Given the description of an element on the screen output the (x, y) to click on. 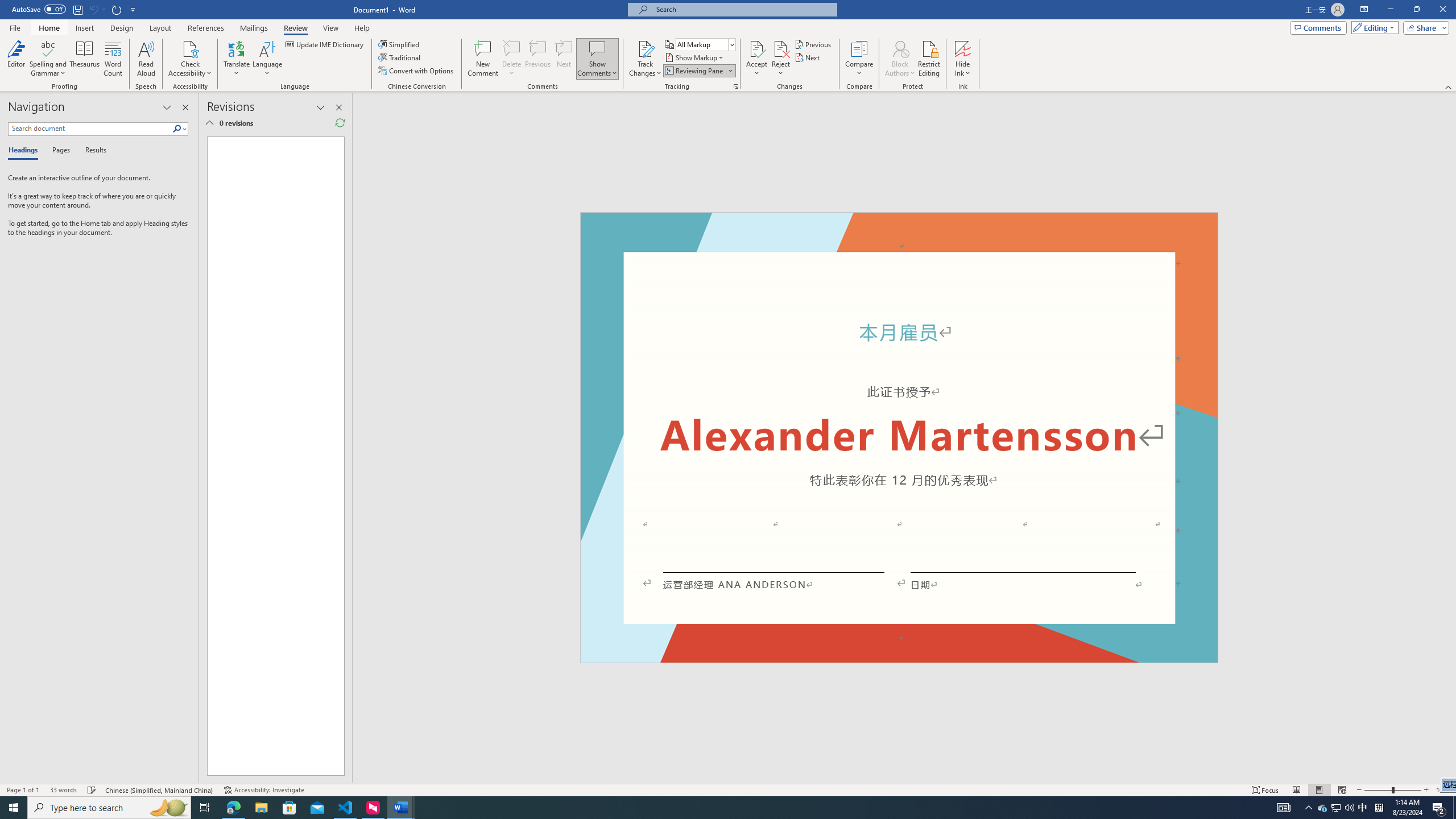
Accept and Move to Next (756, 48)
Decorative (898, 437)
New Comment (482, 58)
Hide Ink (962, 48)
Language Chinese (Simplified, Mainland China) (159, 790)
Display for Review (705, 44)
Track Changes (644, 58)
Microsoft search (742, 9)
Zoom 100% (1443, 790)
